Given the description of an element on the screen output the (x, y) to click on. 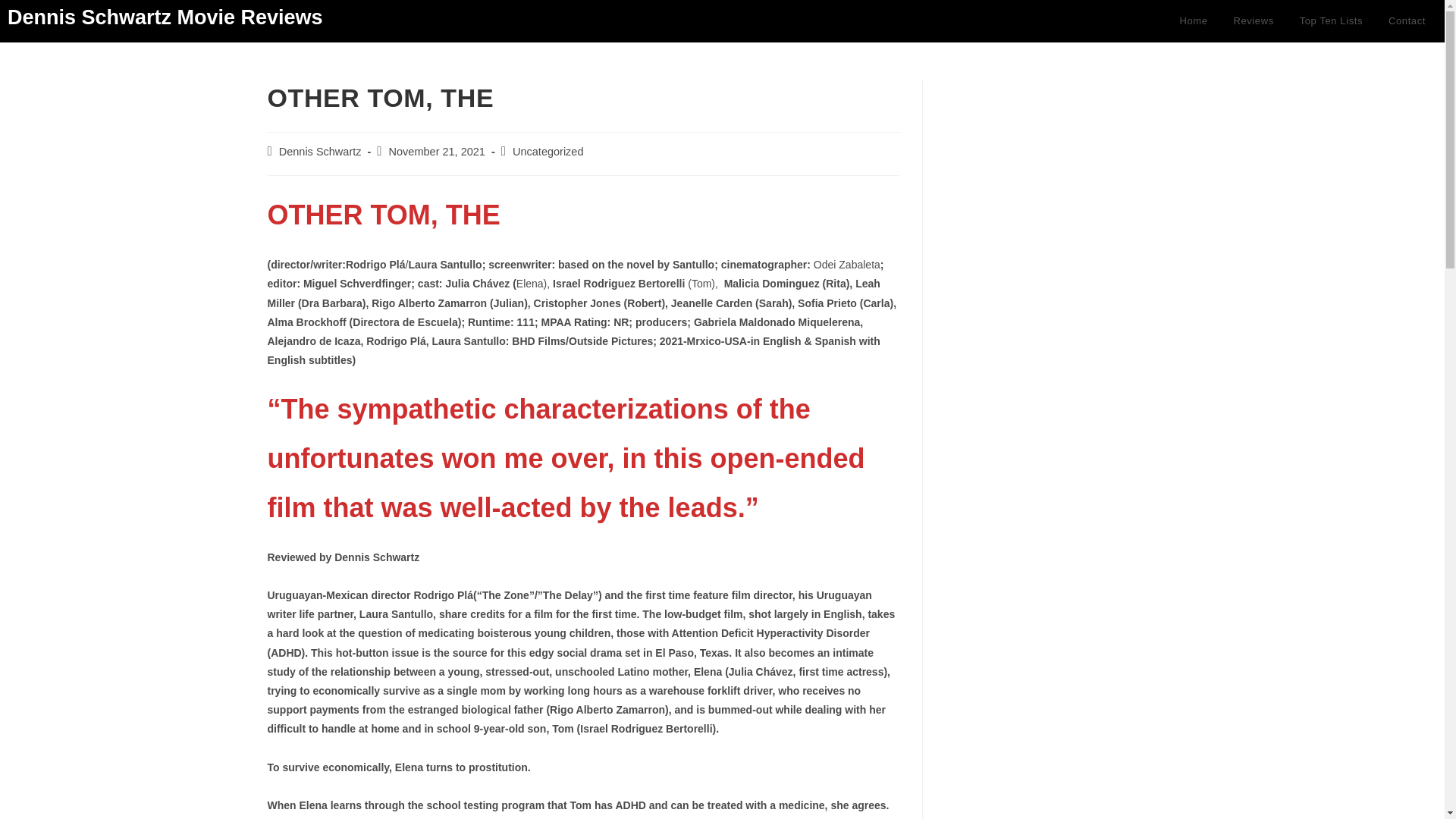
Contact (1407, 21)
Reviews (1252, 21)
Top Ten Lists (1331, 21)
Posts by Dennis Schwartz (320, 151)
Dennis Schwartz (320, 151)
Home (1192, 21)
Uncategorized (547, 151)
